Given the description of an element on the screen output the (x, y) to click on. 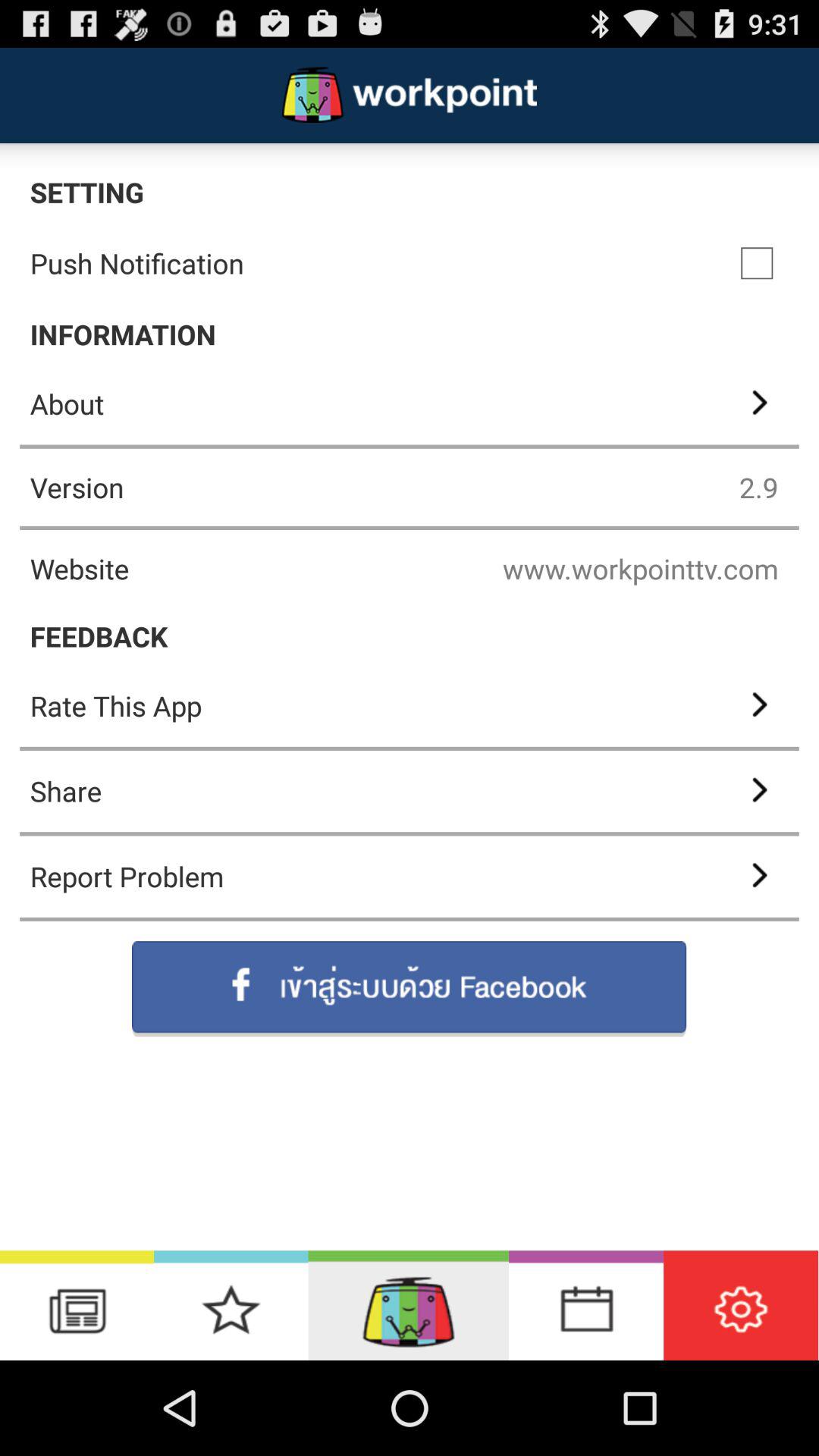
open app below setting (756, 263)
